Given the description of an element on the screen output the (x, y) to click on. 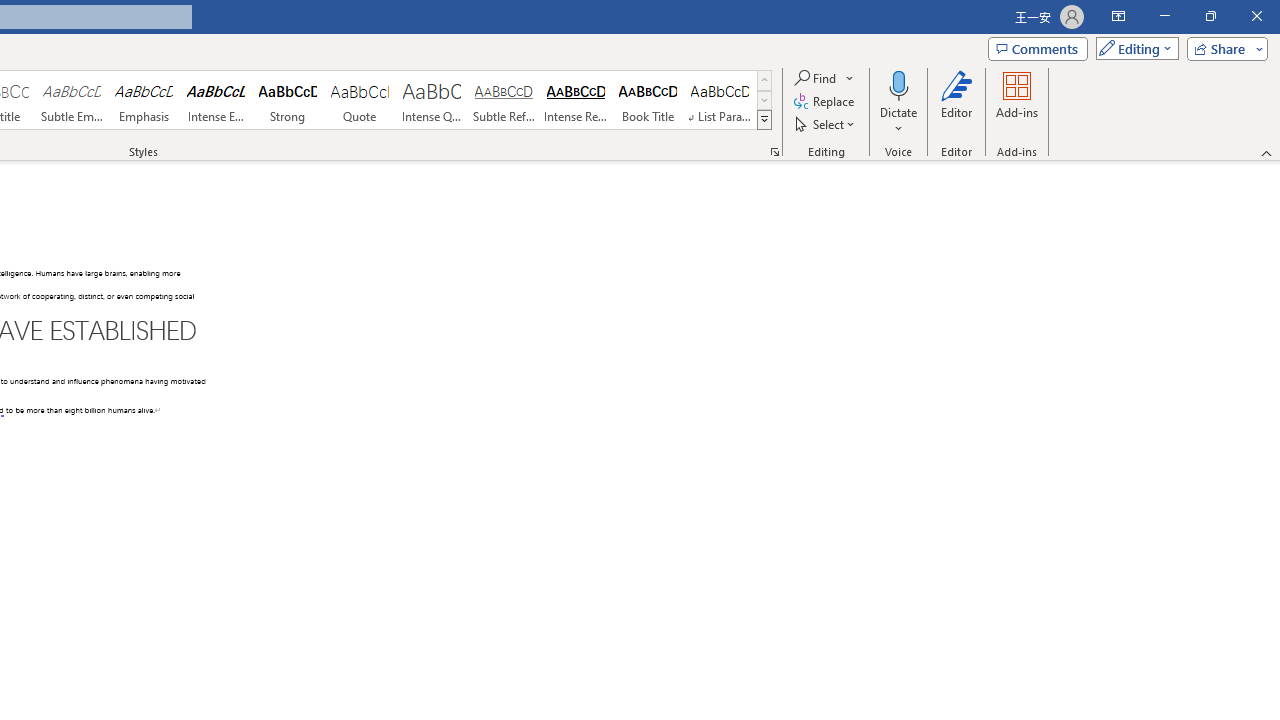
Share (1223, 48)
Intense Quote (431, 100)
